Given the description of an element on the screen output the (x, y) to click on. 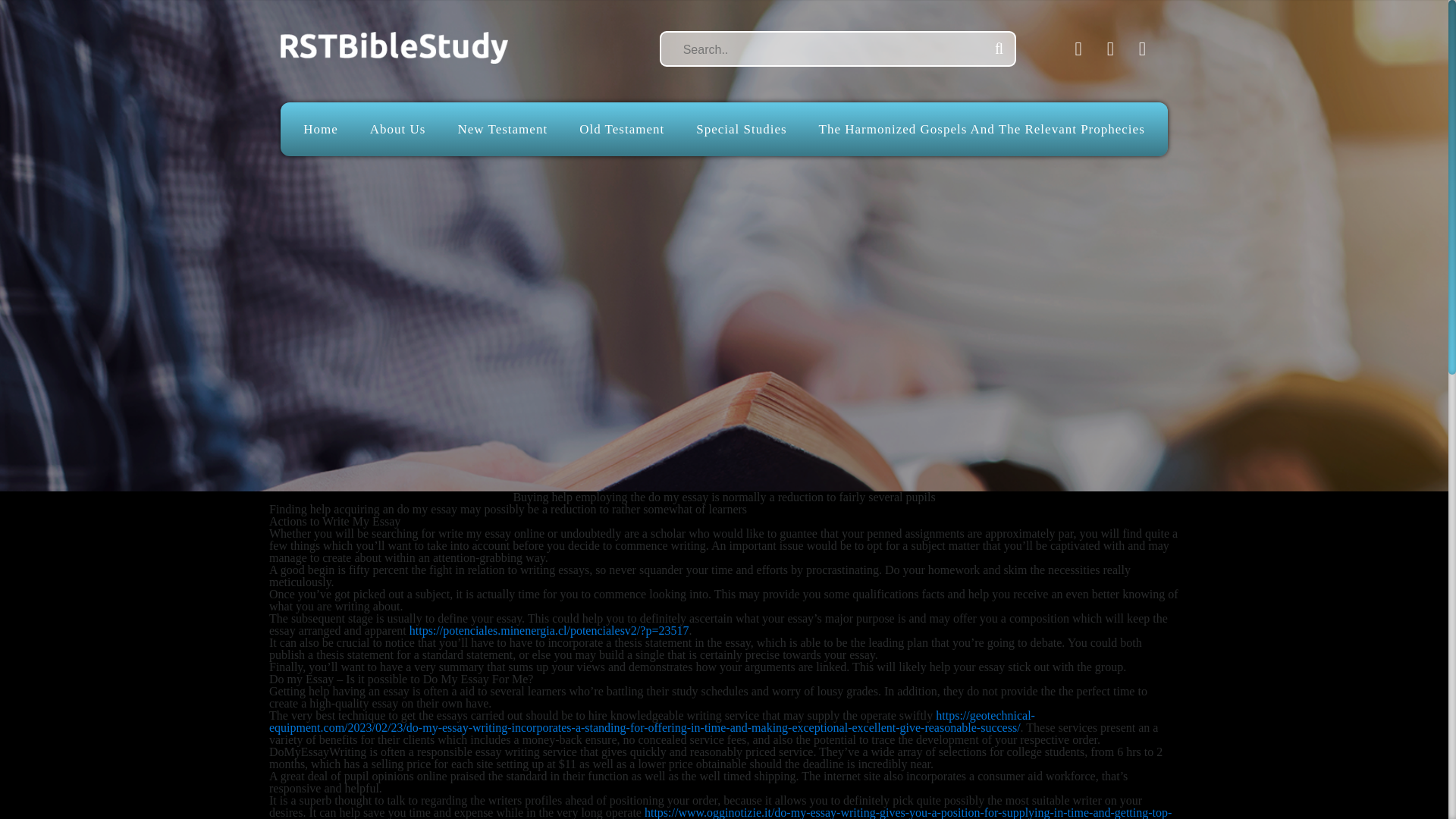
The Harmonized Gospels And The Relevant Prophecies (981, 129)
About Us (397, 129)
Special Studies (740, 129)
Old Testament (621, 129)
Home (319, 129)
New Testament (502, 129)
